Given the description of an element on the screen output the (x, y) to click on. 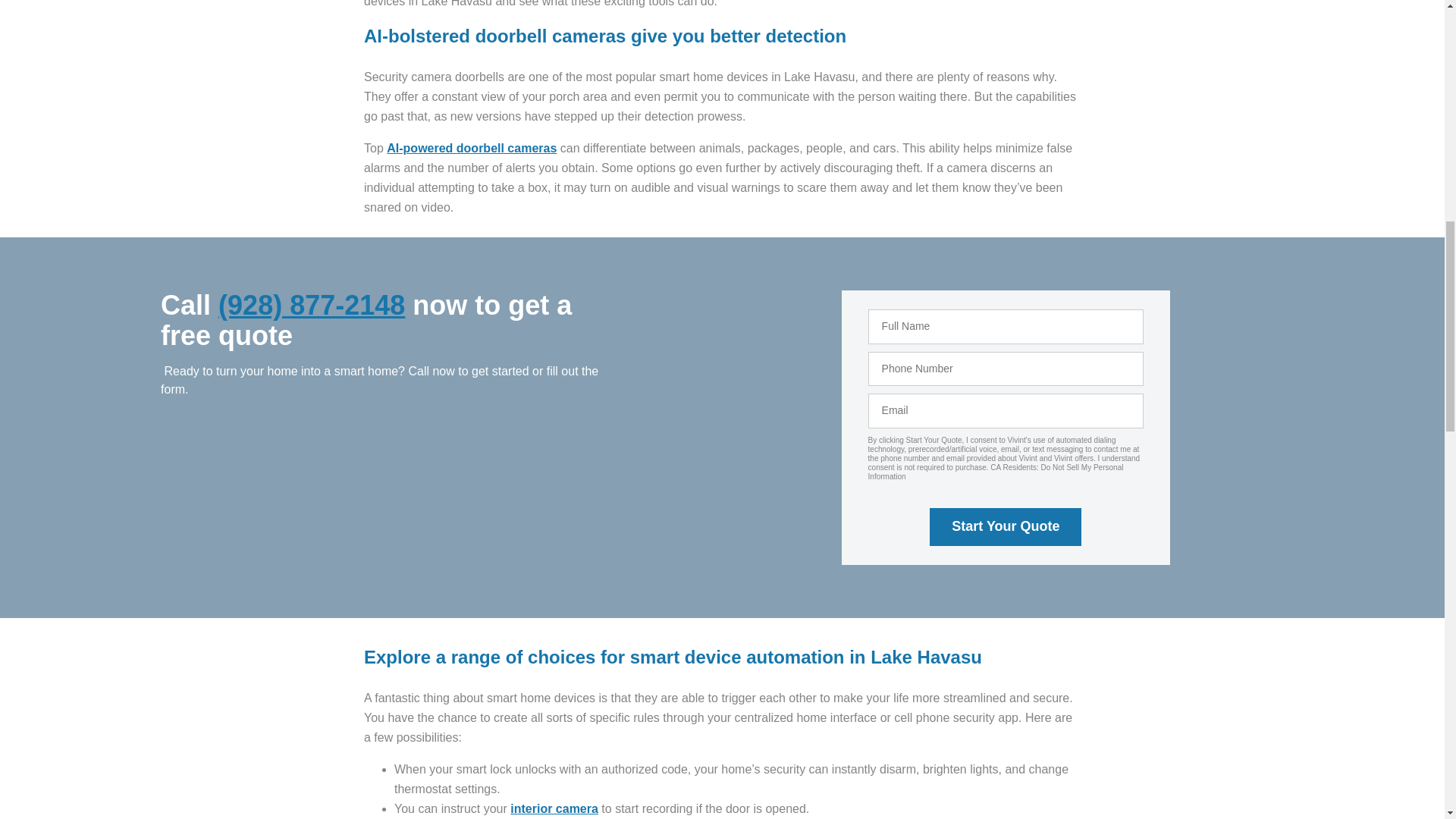
AI-powered doorbell cameras (471, 147)
Indoor camera (554, 808)
Start Your Quote (1005, 526)
interior camera (554, 808)
AI-powered doorbell cameras (471, 147)
Start Your Quote (1005, 526)
